Given the description of an element on the screen output the (x, y) to click on. 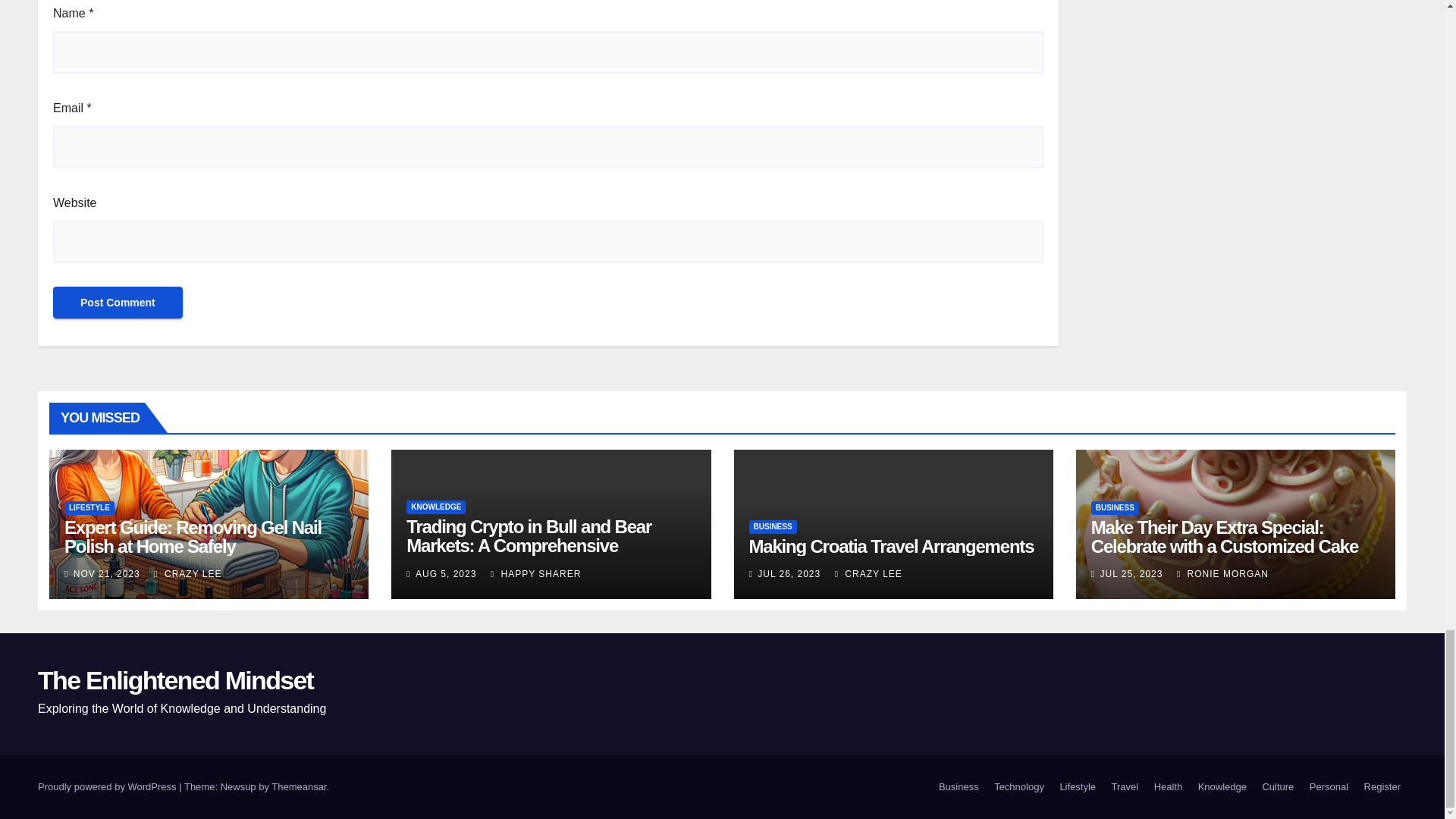
Post Comment (117, 302)
